Given the description of an element on the screen output the (x, y) to click on. 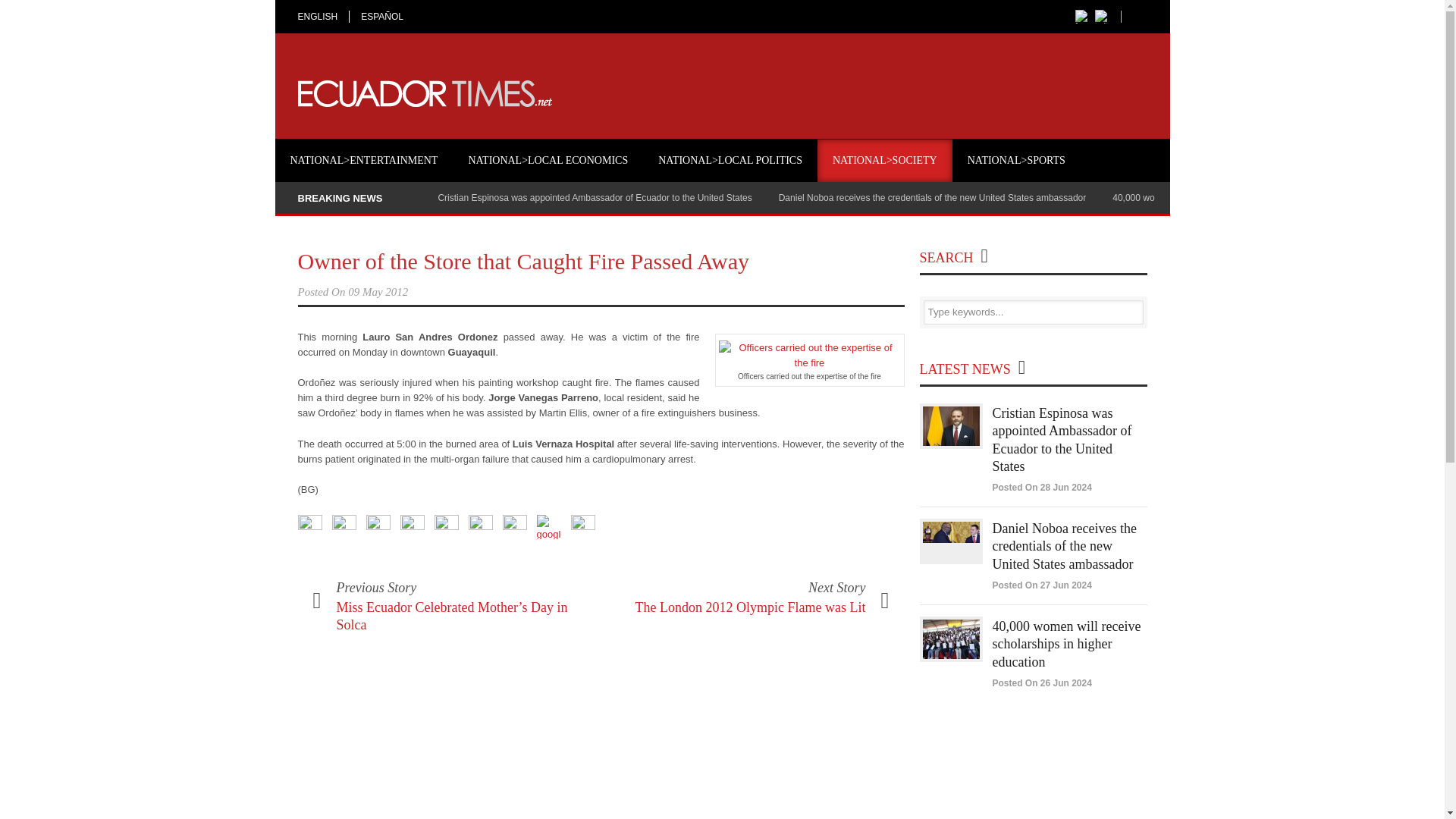
ENGLISH (323, 16)
Type keywords... (1032, 312)
Officers carried out the expertise of the fire (809, 355)
Posted On 28 Jun 2024 (1040, 487)
The London 2012 Olympic Flame was Lit (750, 607)
Owner of the Store that Caught Fire Passed Away (522, 260)
09 May 2012 (377, 291)
